Given the description of an element on the screen output the (x, y) to click on. 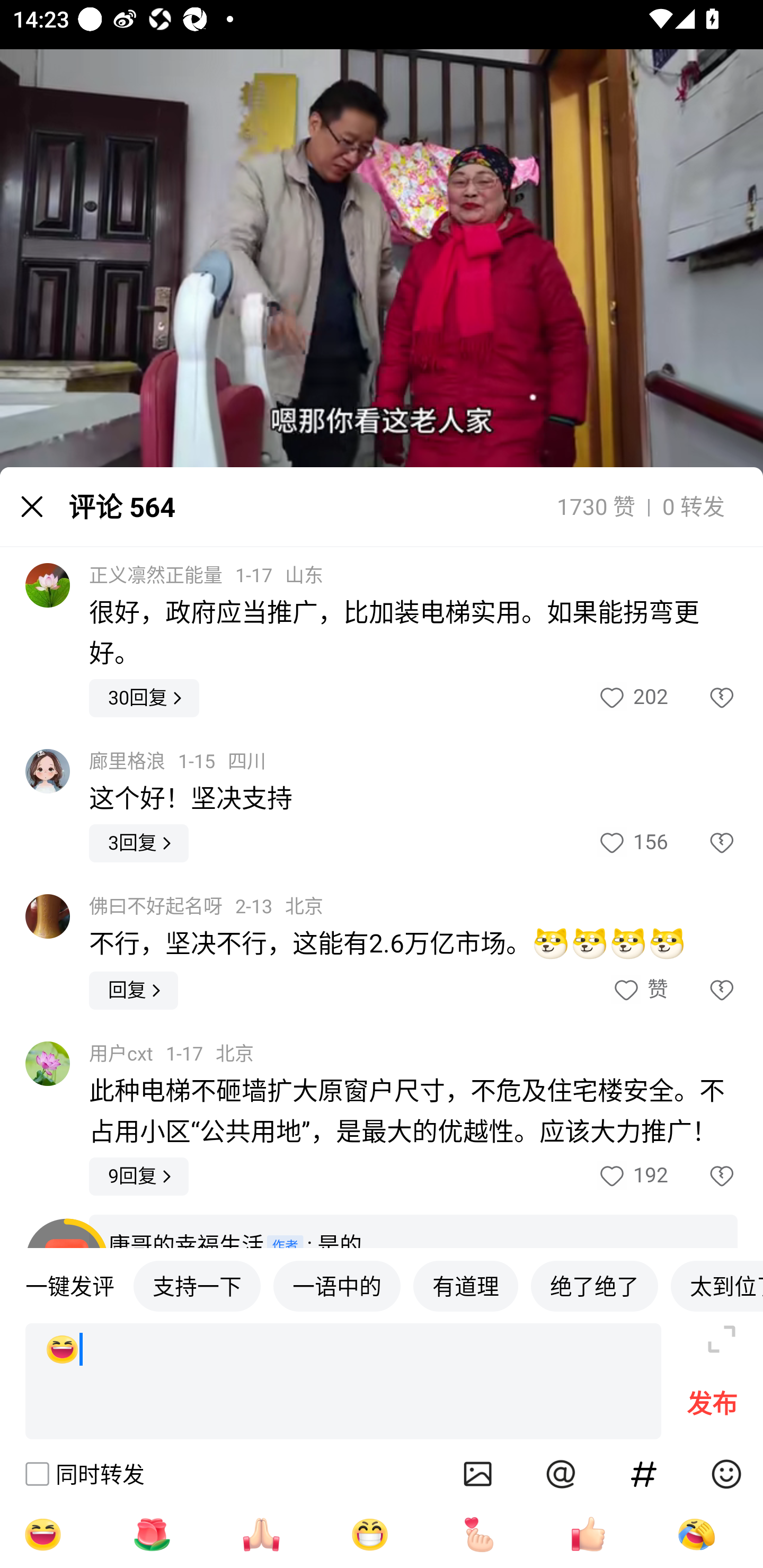
支持一下 (196, 1285)
一语中的 (336, 1285)
有道理 (465, 1285)
绝了绝了 (594, 1285)
太到位了 (716, 1285)
[大笑] (343, 1381)
全屏编辑 (721, 1338)
发布 (711, 1407)
同时转发 (83, 1473)
相册 (478, 1473)
at (560, 1473)
话题 (643, 1473)
表情 (726, 1473)
[大笑] (42, 1534)
[玫瑰] (152, 1534)
[祈祷] (261, 1534)
[呲牙] (369, 1534)
[比心] (478, 1534)
[赞] (588, 1534)
[捂脸] (696, 1534)
